Given the description of an element on the screen output the (x, y) to click on. 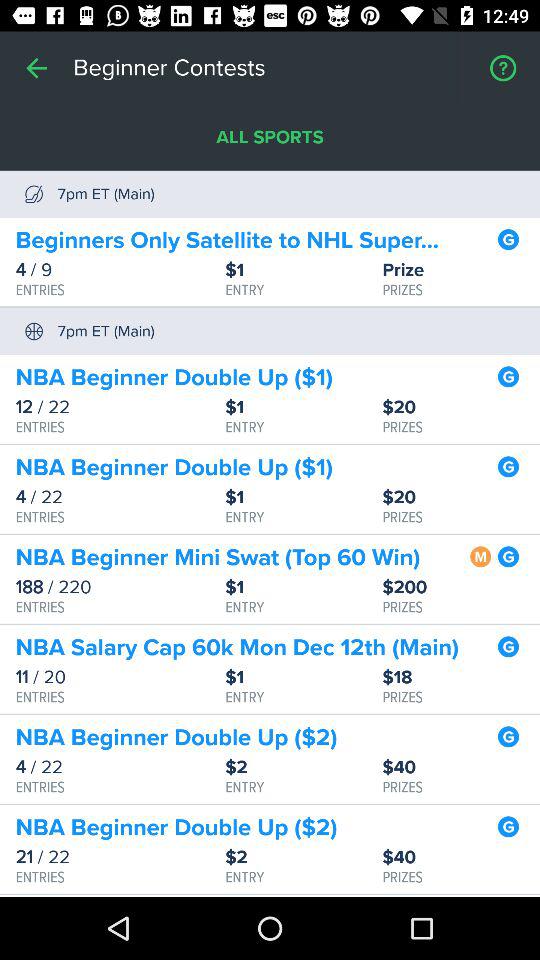
tap the 188 / 220 item (120, 587)
